Given the description of an element on the screen output the (x, y) to click on. 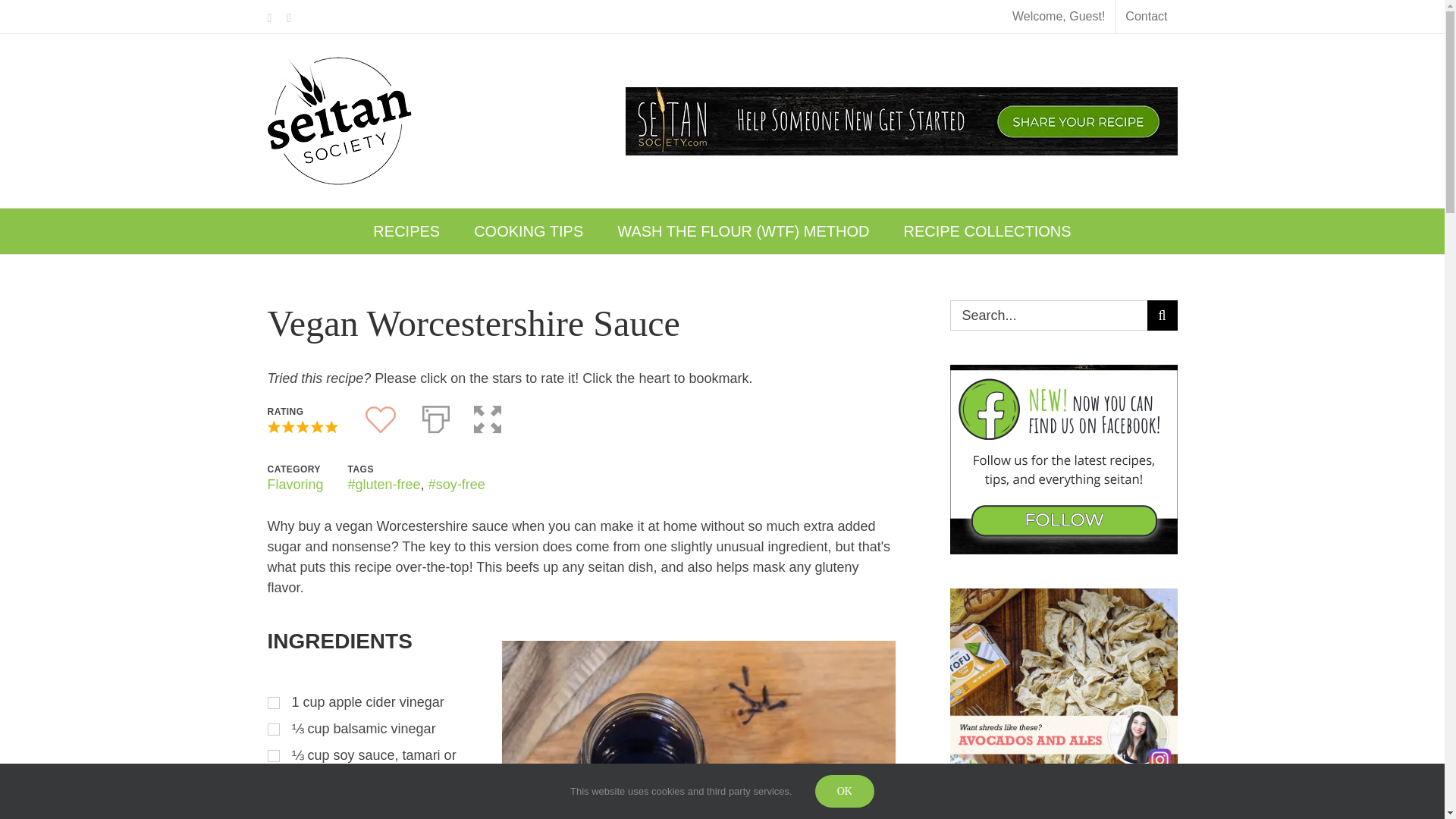
RECIPES (406, 230)
Contact (1145, 16)
Welcome, Guest! (1059, 16)
COOKING TIPS (528, 230)
